Given the description of an element on the screen output the (x, y) to click on. 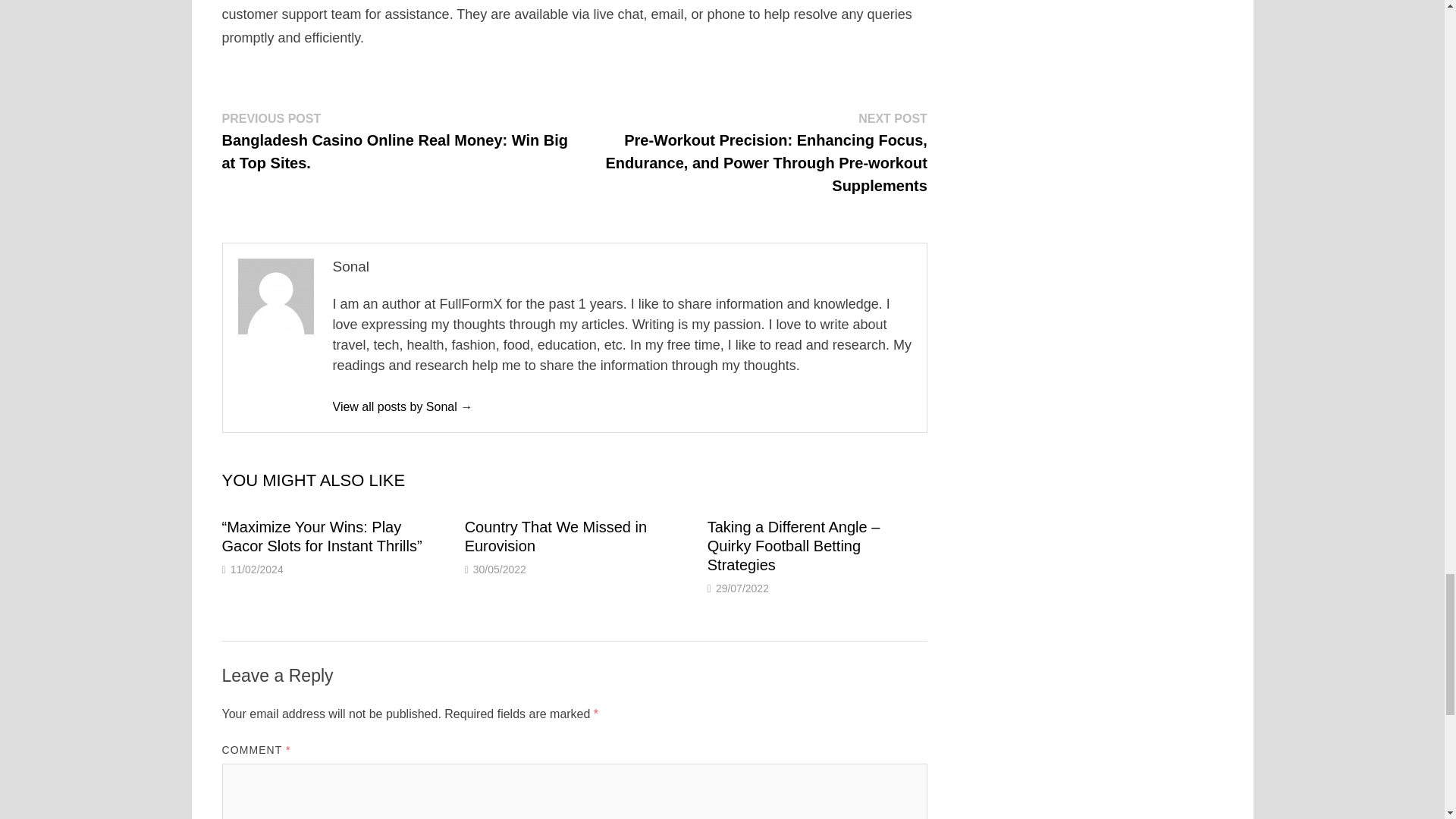
Sonal (401, 406)
Country That We Missed in Eurovision (555, 536)
